Given the description of an element on the screen output the (x, y) to click on. 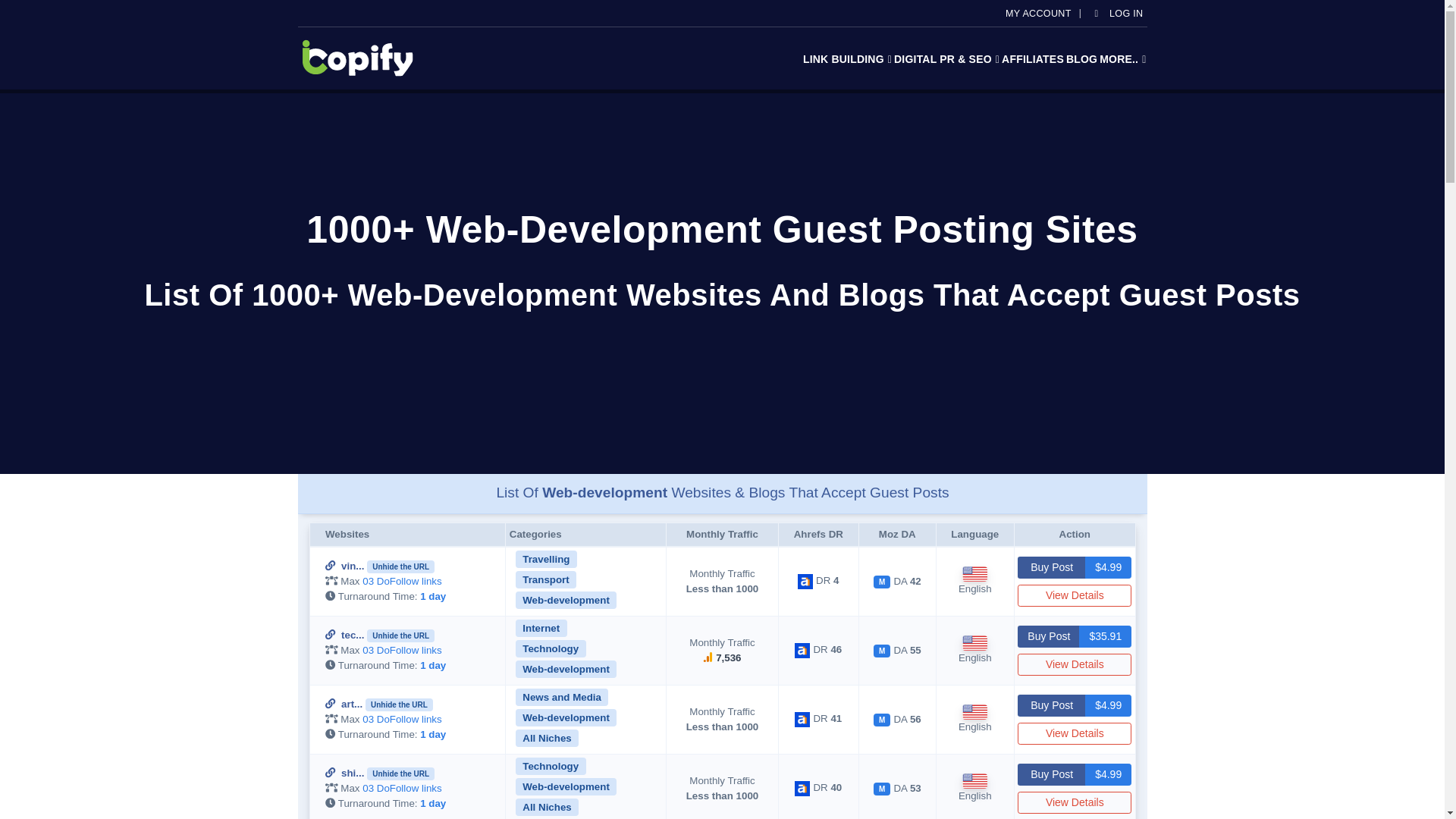
LOG IN (1118, 13)
LINK BUILDING (847, 58)
MY ACCOUNT (1040, 13)
MORE.. (1123, 58)
AFFILIATES (1032, 58)
BLOG (1081, 58)
